Given the description of an element on the screen output the (x, y) to click on. 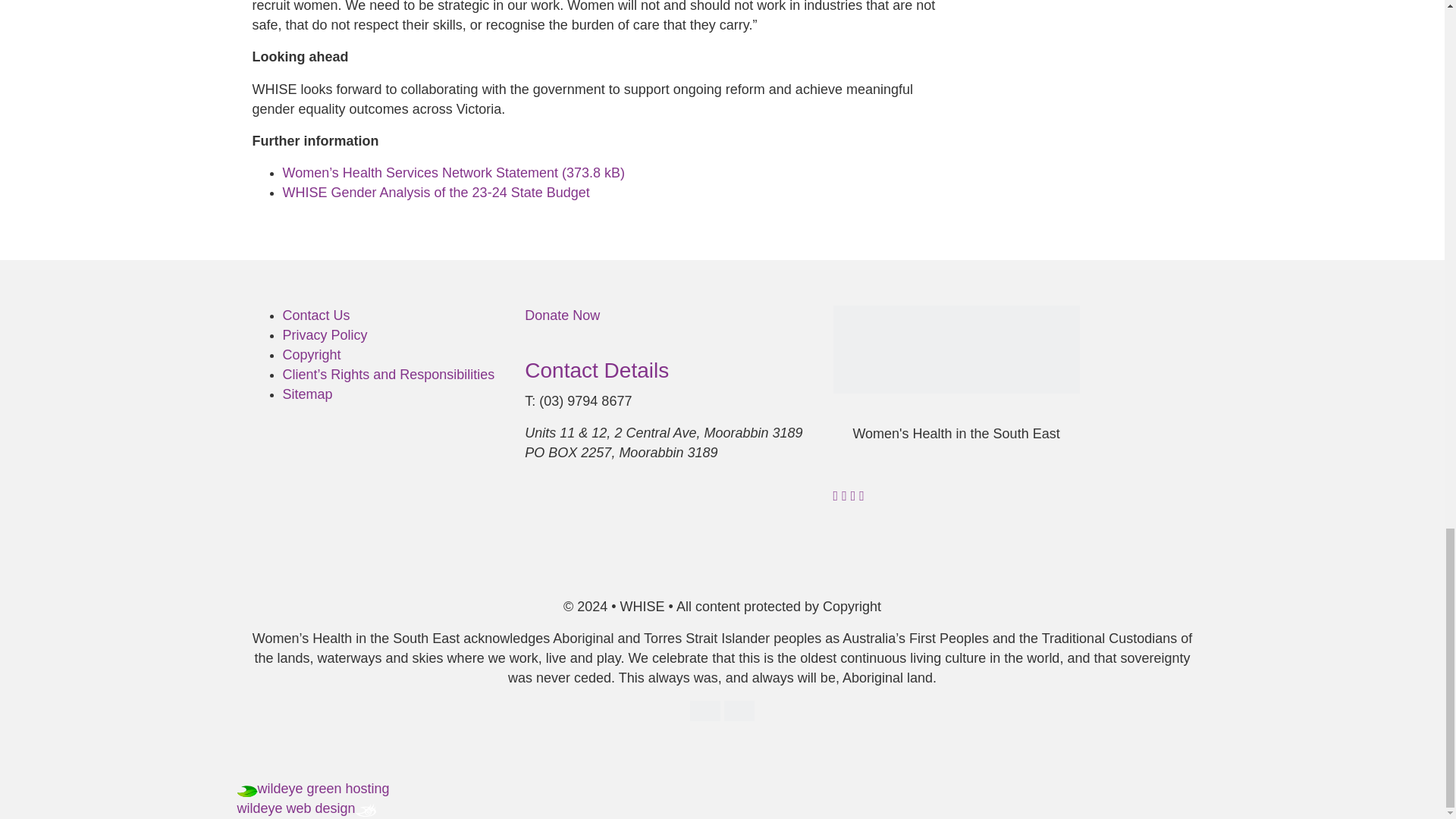
 green website hosting at Wildeye  (323, 788)
 website design by Wildeye  (295, 807)
